Given the description of an element on the screen output the (x, y) to click on. 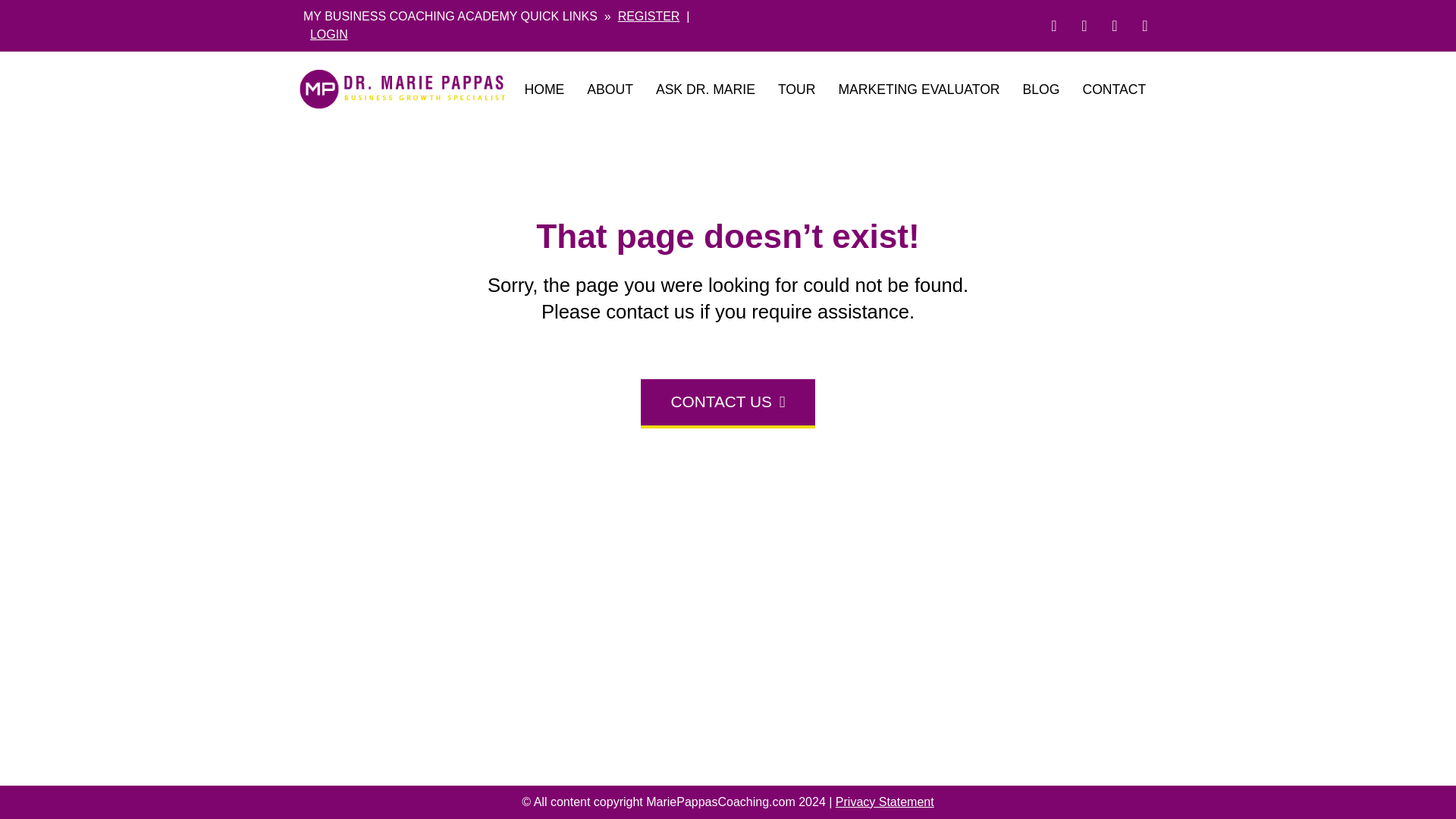
LOGIN (328, 33)
HOME (543, 89)
BLOG (1041, 89)
REGISTER (648, 15)
ASK DR. MARIE (706, 89)
ABOUT (610, 89)
CONTACT US (727, 403)
CONTACT (1113, 89)
Privacy Statement (884, 801)
MARKETING EVALUATOR (918, 89)
TOUR (797, 89)
